Given the description of an element on the screen output the (x, y) to click on. 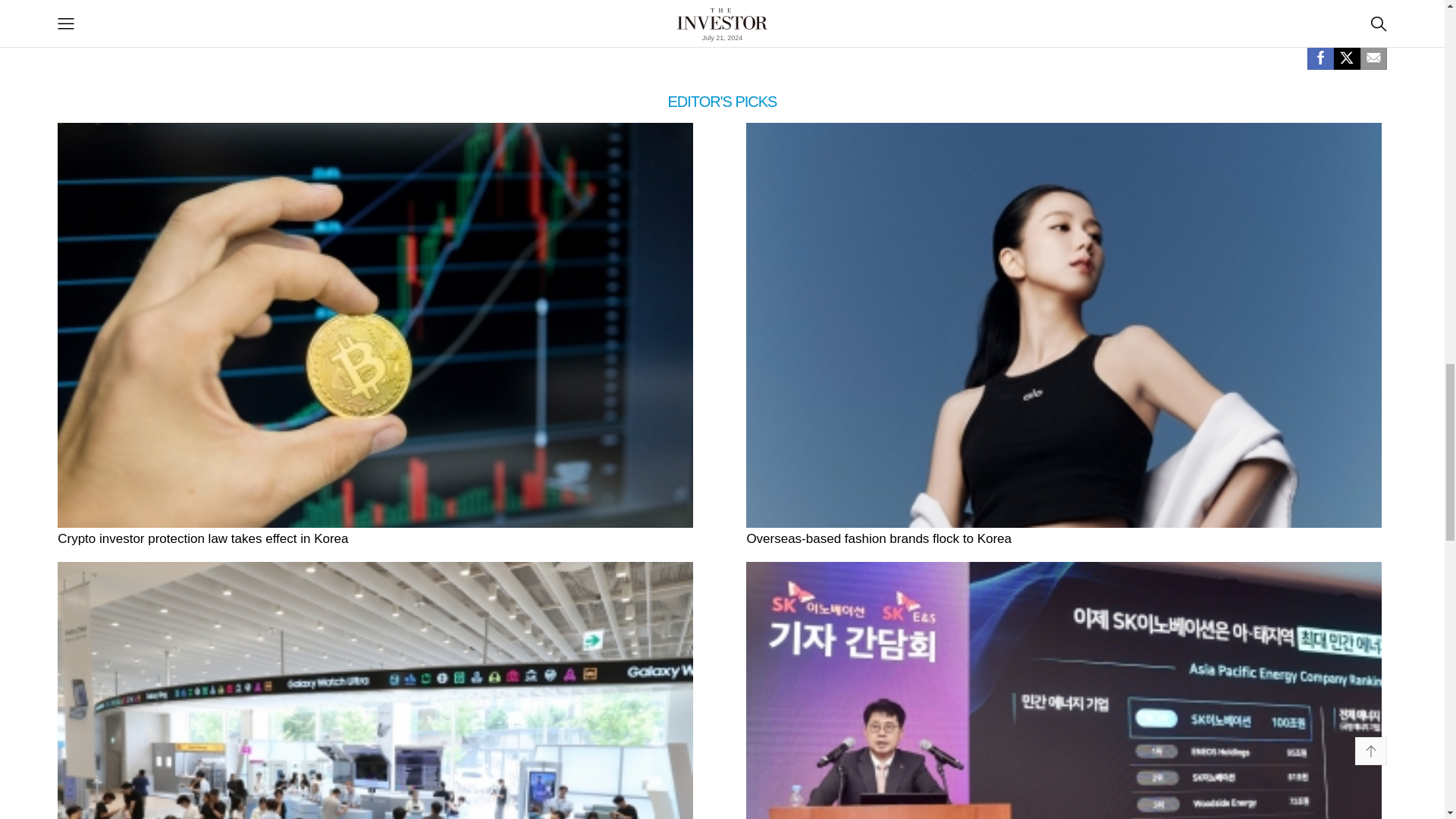
Crypto investor protection law takes effect in Korea (375, 539)
